Given the description of an element on the screen output the (x, y) to click on. 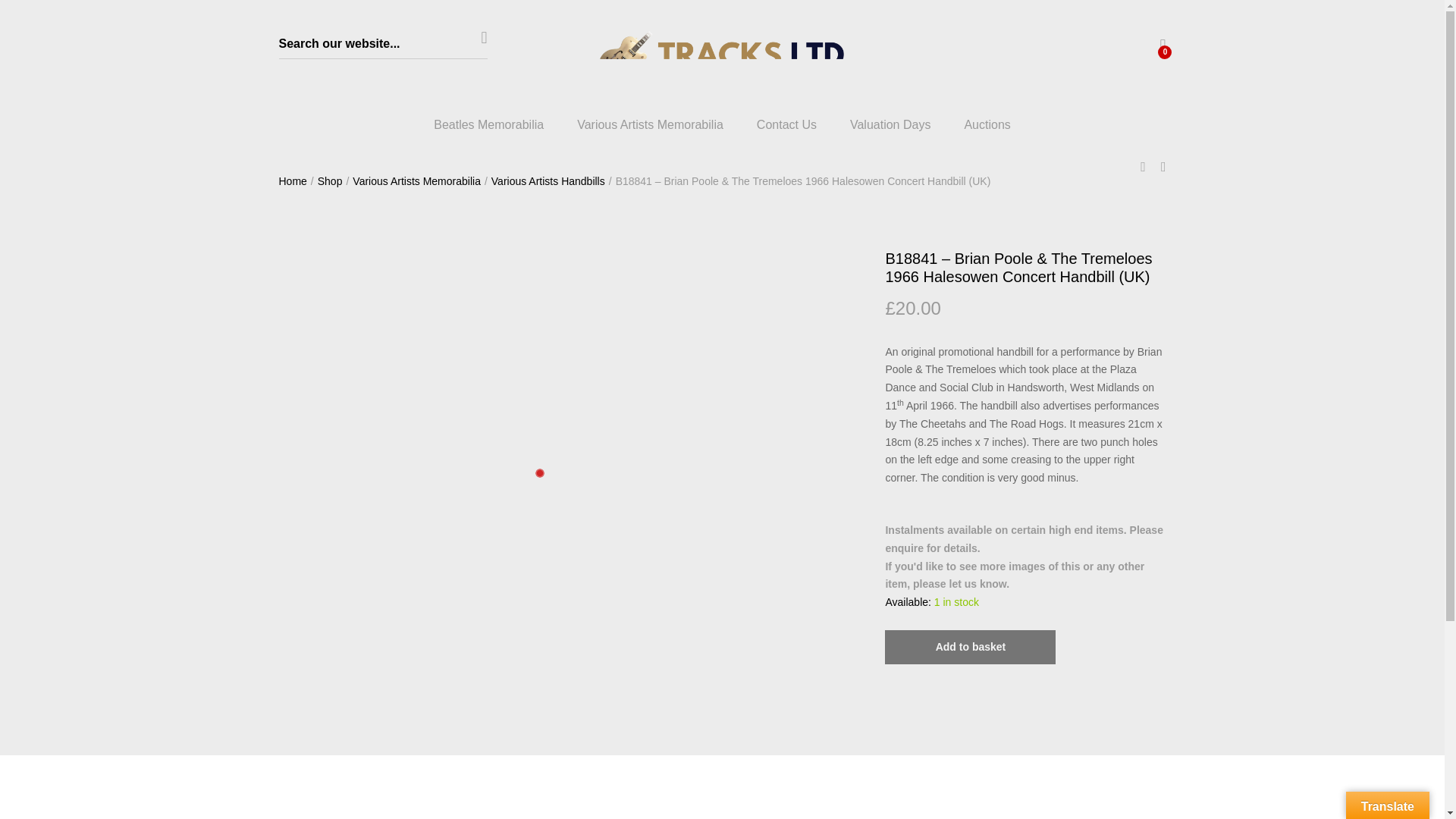
Various Artists Memorabilia (649, 124)
Beatles Memorabilia (488, 124)
